Given the description of an element on the screen output the (x, y) to click on. 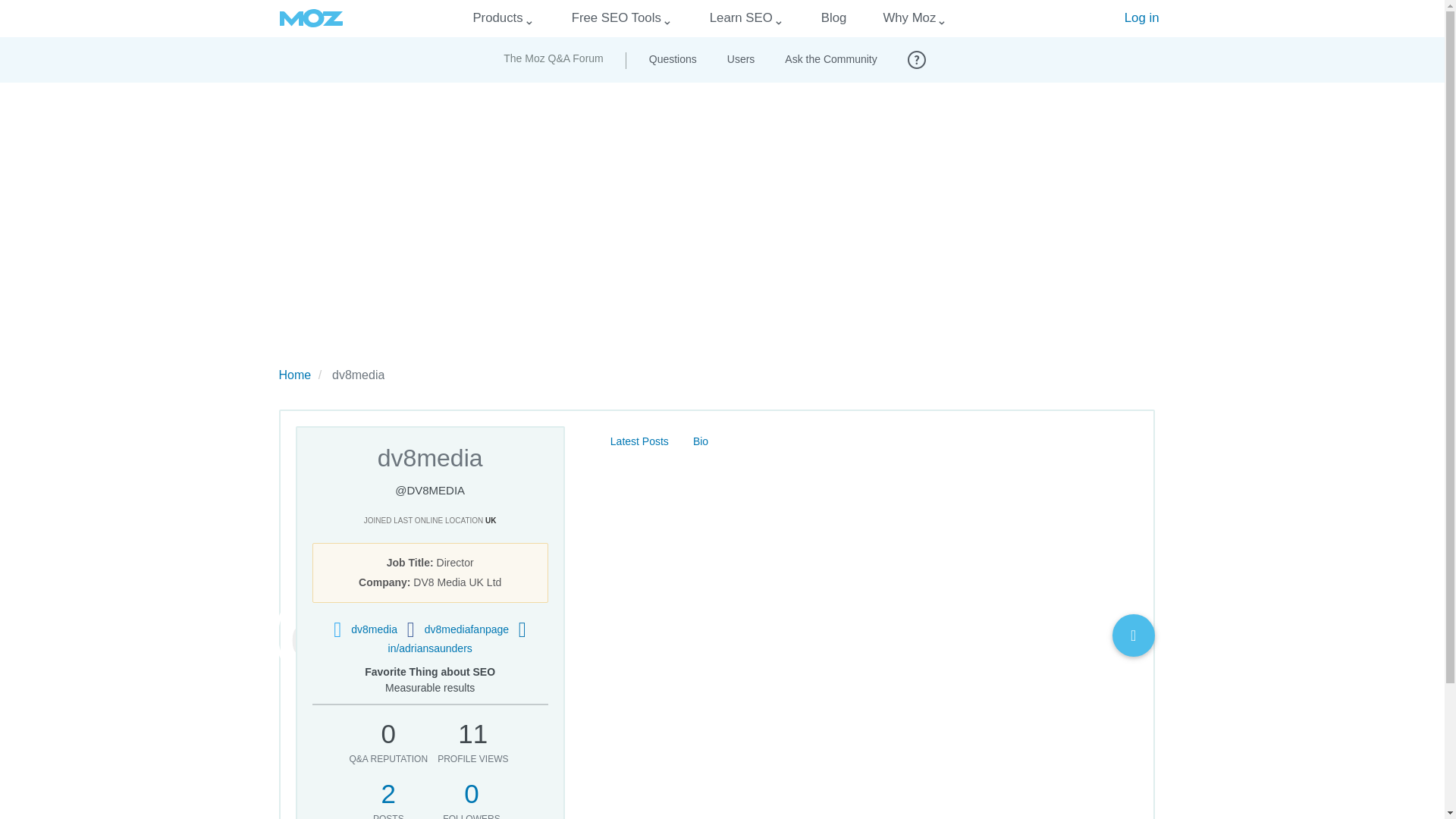
Moz Home (311, 18)
Moz logo (311, 18)
Moz logo (311, 18)
Products (496, 18)
